Given the description of an element on the screen output the (x, y) to click on. 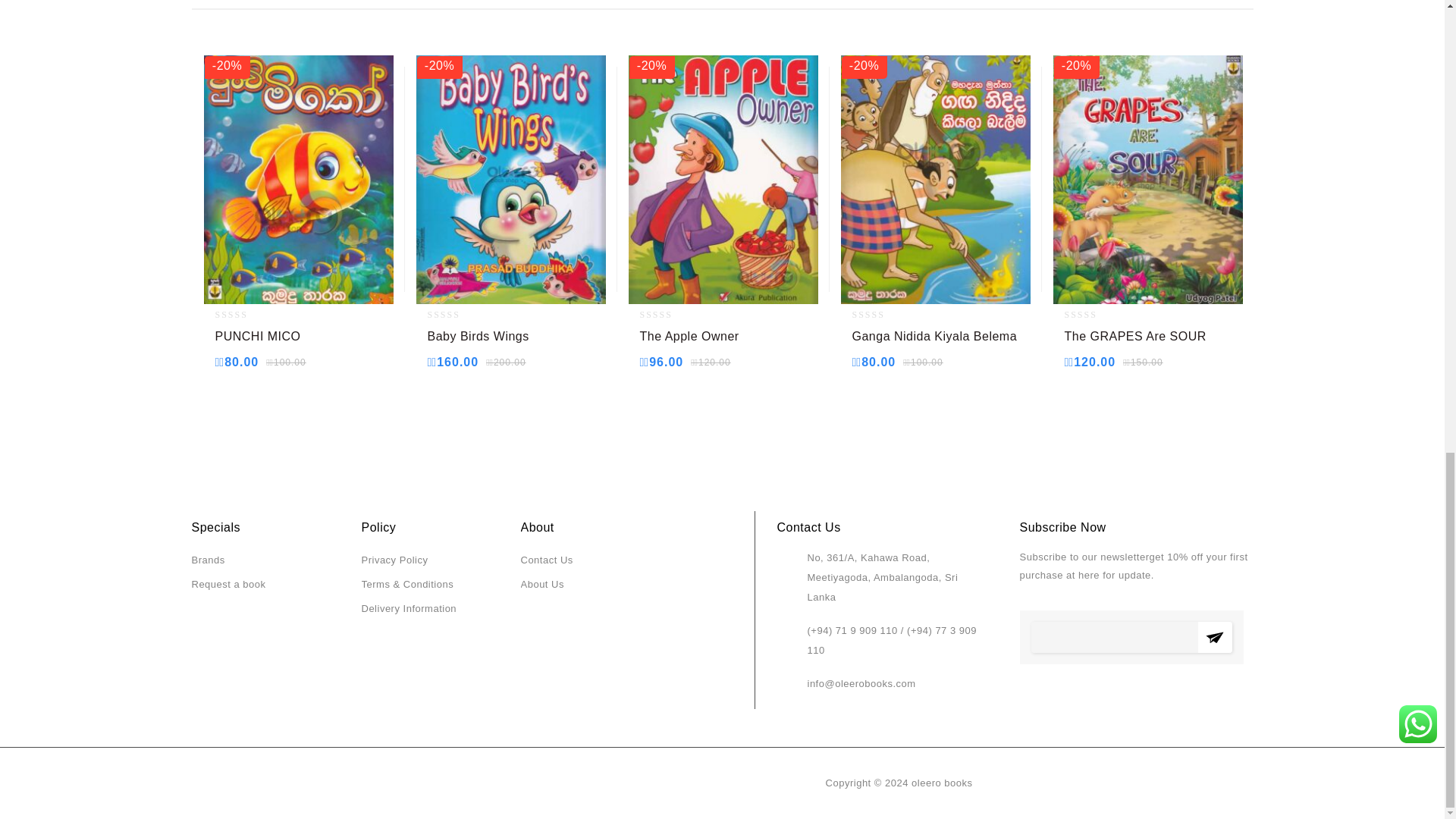
Not yet rated (669, 314)
Subscribe (1214, 636)
Not yet rated (457, 314)
Not yet rated (881, 314)
Not yet rated (244, 314)
Not yet rated (1093, 314)
